Given the description of an element on the screen output the (x, y) to click on. 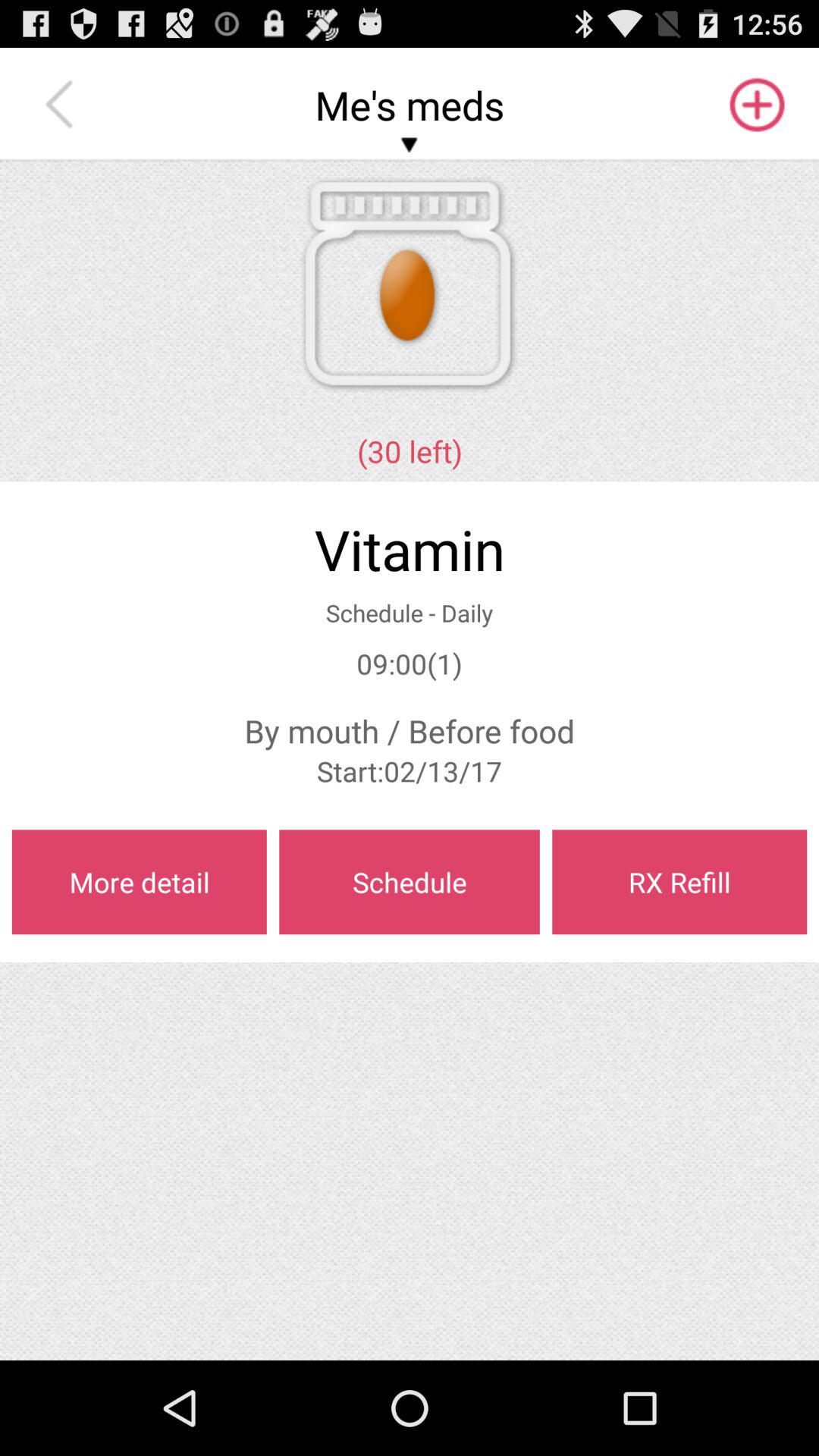
press icon next to the schedule item (138, 881)
